Given the description of an element on the screen output the (x, y) to click on. 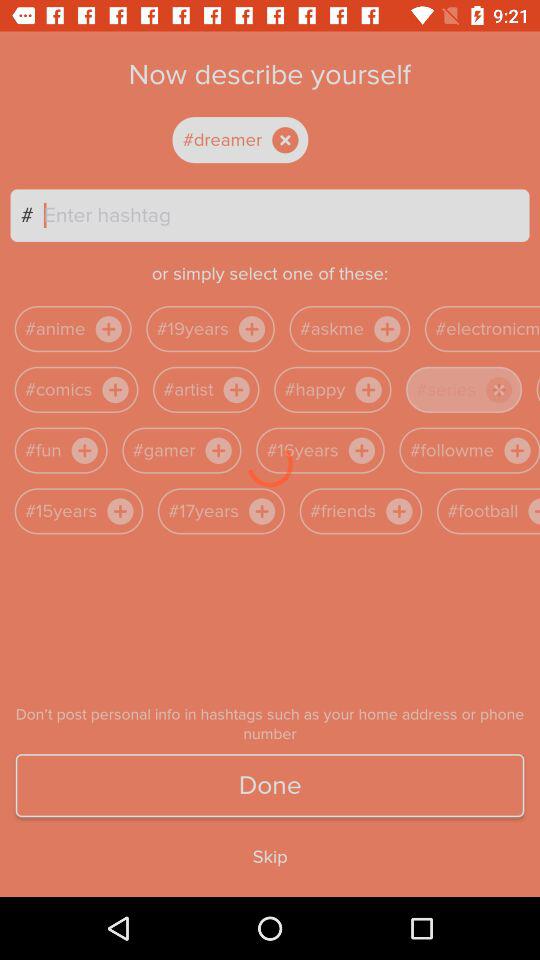
jump to the done (269, 785)
